Given the description of an element on the screen output the (x, y) to click on. 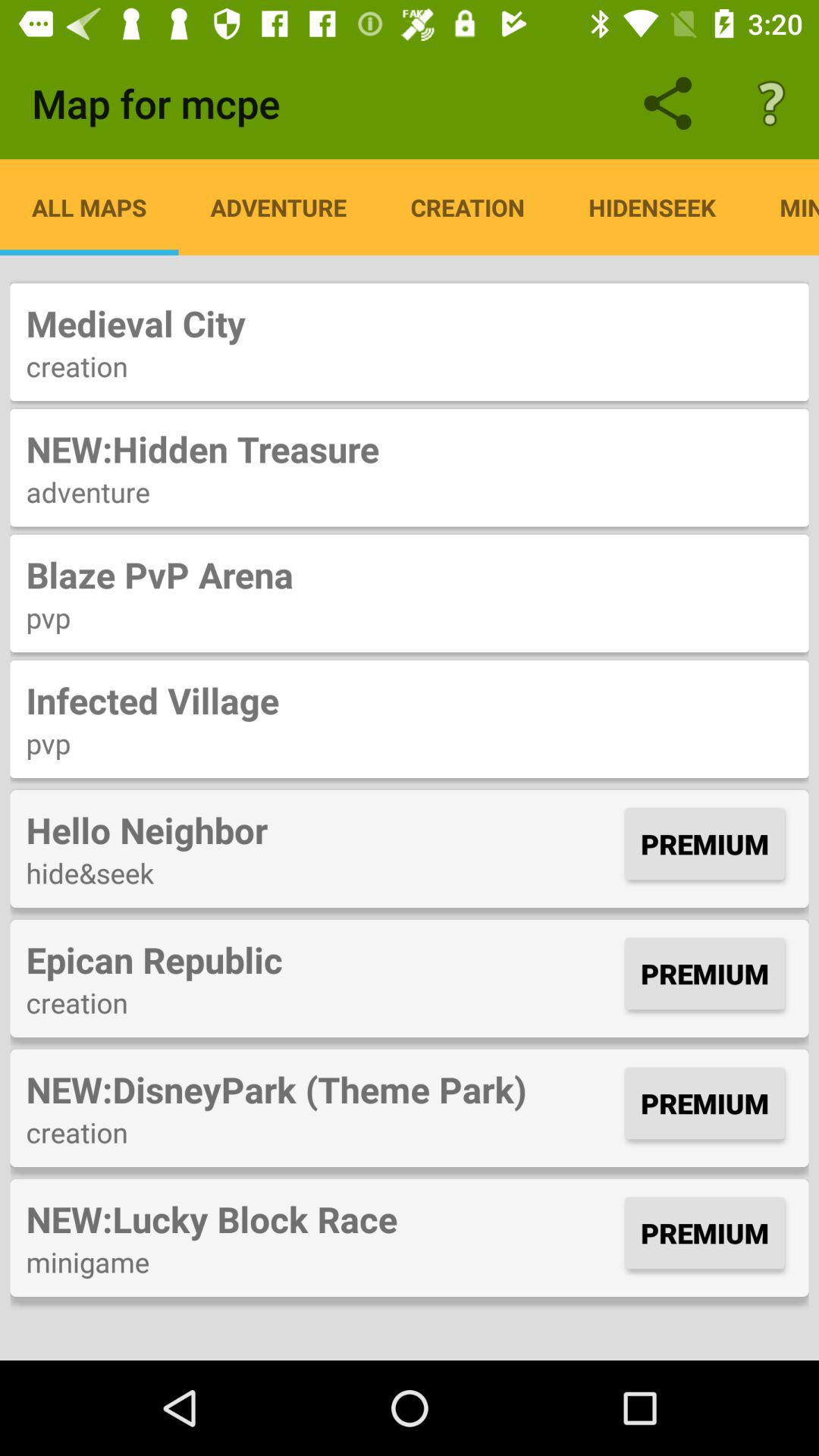
press the icon above creation icon (409, 323)
